Given the description of an element on the screen output the (x, y) to click on. 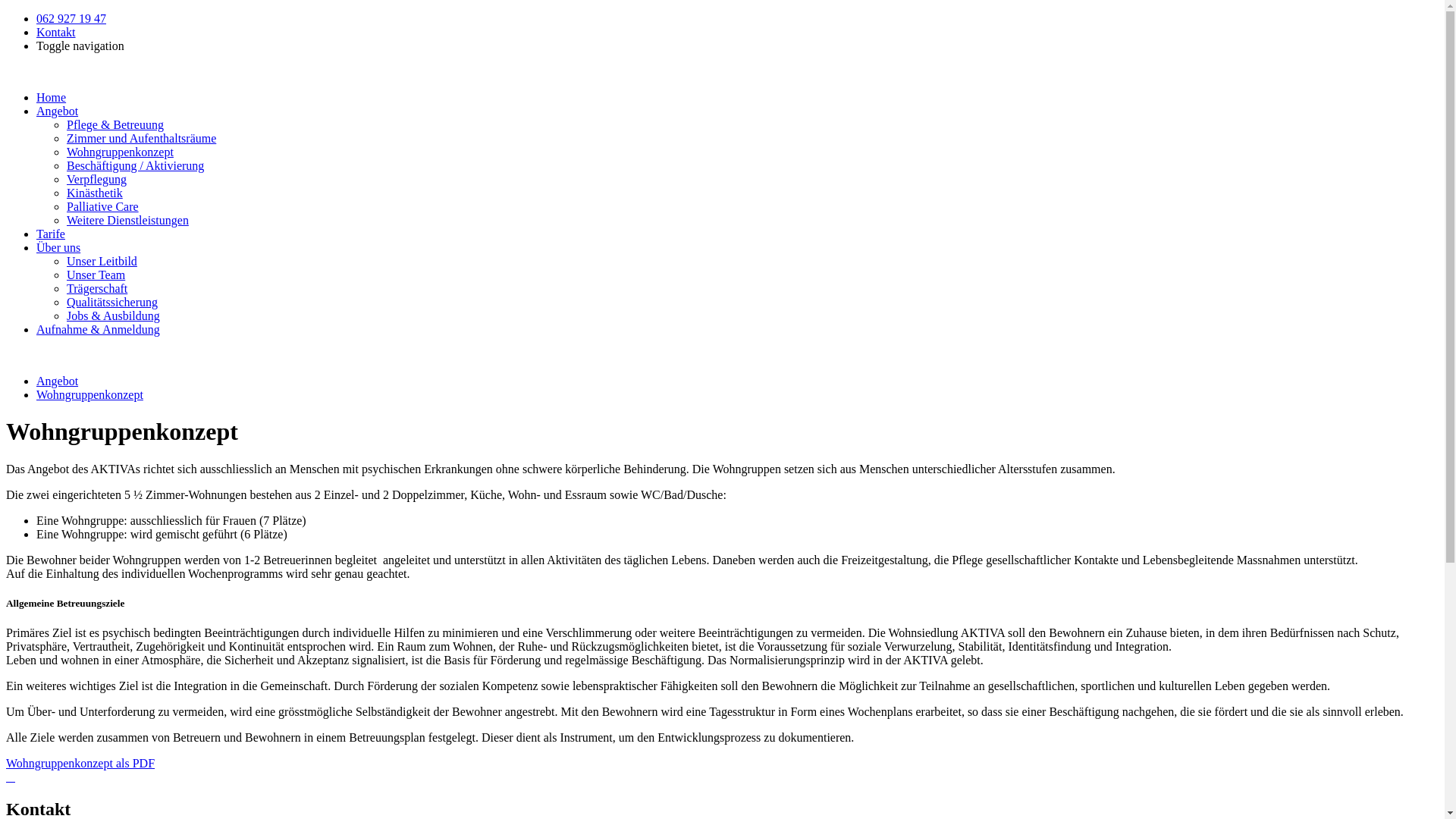
Verpflegung Element type: text (96, 178)
Aufnahme & Anmeldung Element type: text (98, 329)
Pflege & Betreuung Element type: text (114, 124)
WG1 (3).JPG Element type: hover (10, 776)
Weitere Dienstleistungen Element type: text (127, 219)
Tarife Element type: text (50, 233)
Kontakt Element type: text (55, 31)
062 927 19 47 Element type: text (71, 18)
Angebot Element type: text (57, 380)
Jobs & Ausbildung Element type: text (113, 315)
Wohngruppenkonzept als PDF Element type: text (80, 762)
Palliative Care Element type: text (102, 206)
Unser Team Element type: text (95, 274)
Wohngruppenkonzept Element type: text (89, 394)
Wohngruppenkonzept Element type: text (119, 151)
WG1.JPG Element type: hover (13, 776)
WG2.JPG Element type: hover (7, 776)
Angebot Element type: text (57, 110)
Unser Leitbild Element type: text (101, 260)
Home Element type: text (50, 97)
Toggle navigation Element type: text (80, 45)
